Given the description of an element on the screen output the (x, y) to click on. 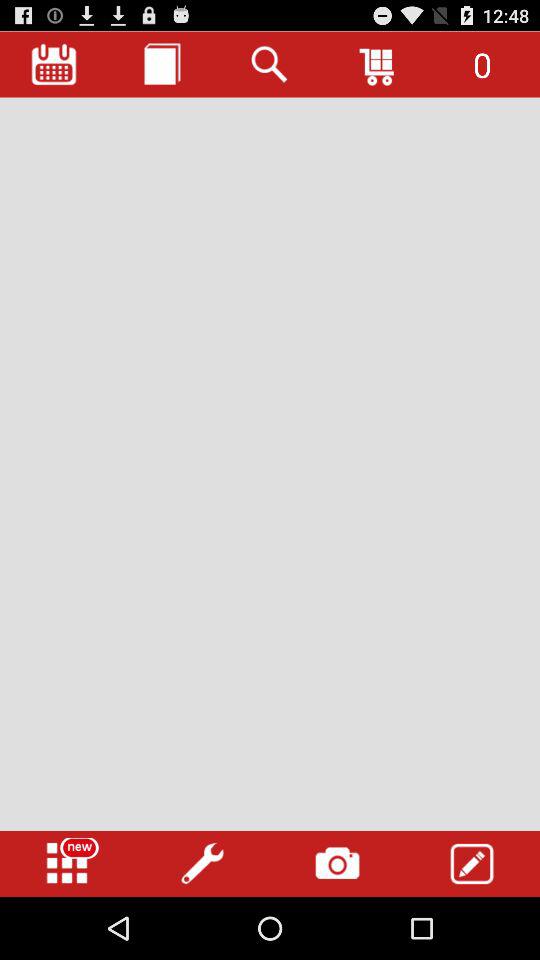
check calendar (53, 64)
